Given the description of an element on the screen output the (x, y) to click on. 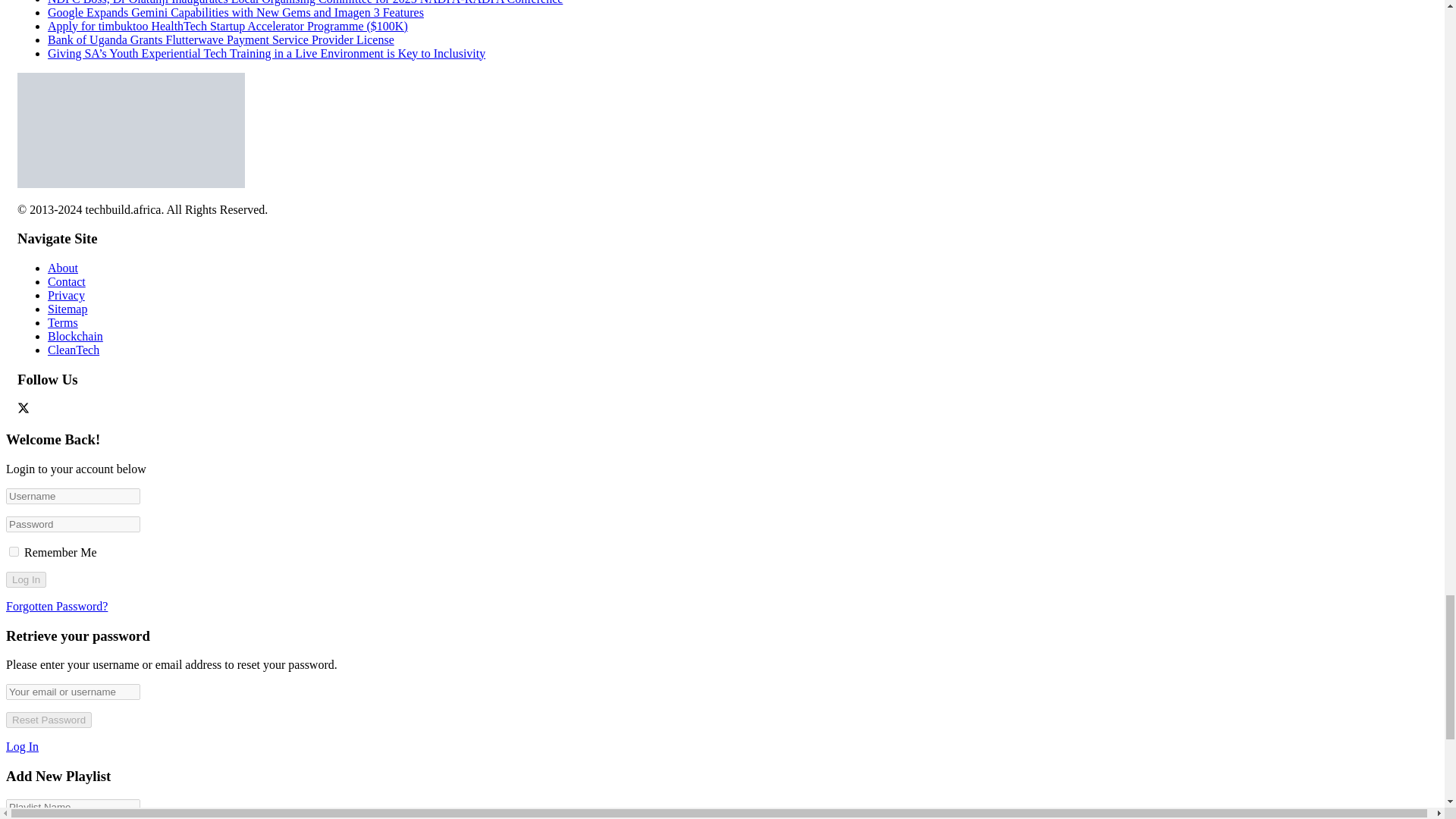
true (13, 551)
Log In (25, 579)
Reset Password (48, 719)
